Given the description of an element on the screen output the (x, y) to click on. 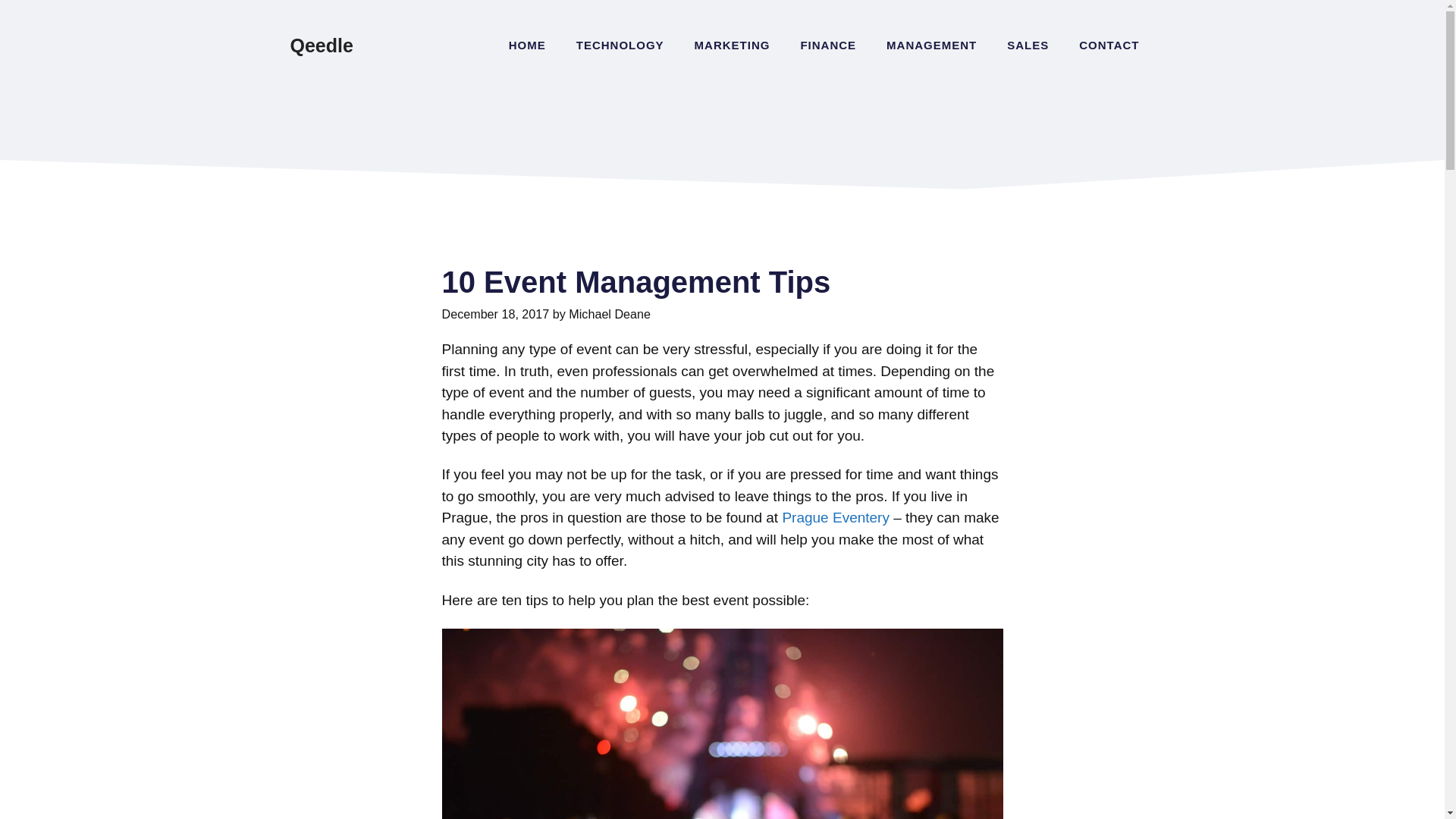
FINANCE (827, 44)
Qeedle (320, 45)
TECHNOLOGY (619, 44)
Prague Eventery (835, 517)
View all posts by Michael Deane (609, 314)
HOME (526, 44)
MARKETING (732, 44)
MANAGEMENT (930, 44)
Michael Deane (609, 314)
SALES (1027, 44)
